Given the description of an element on the screen output the (x, y) to click on. 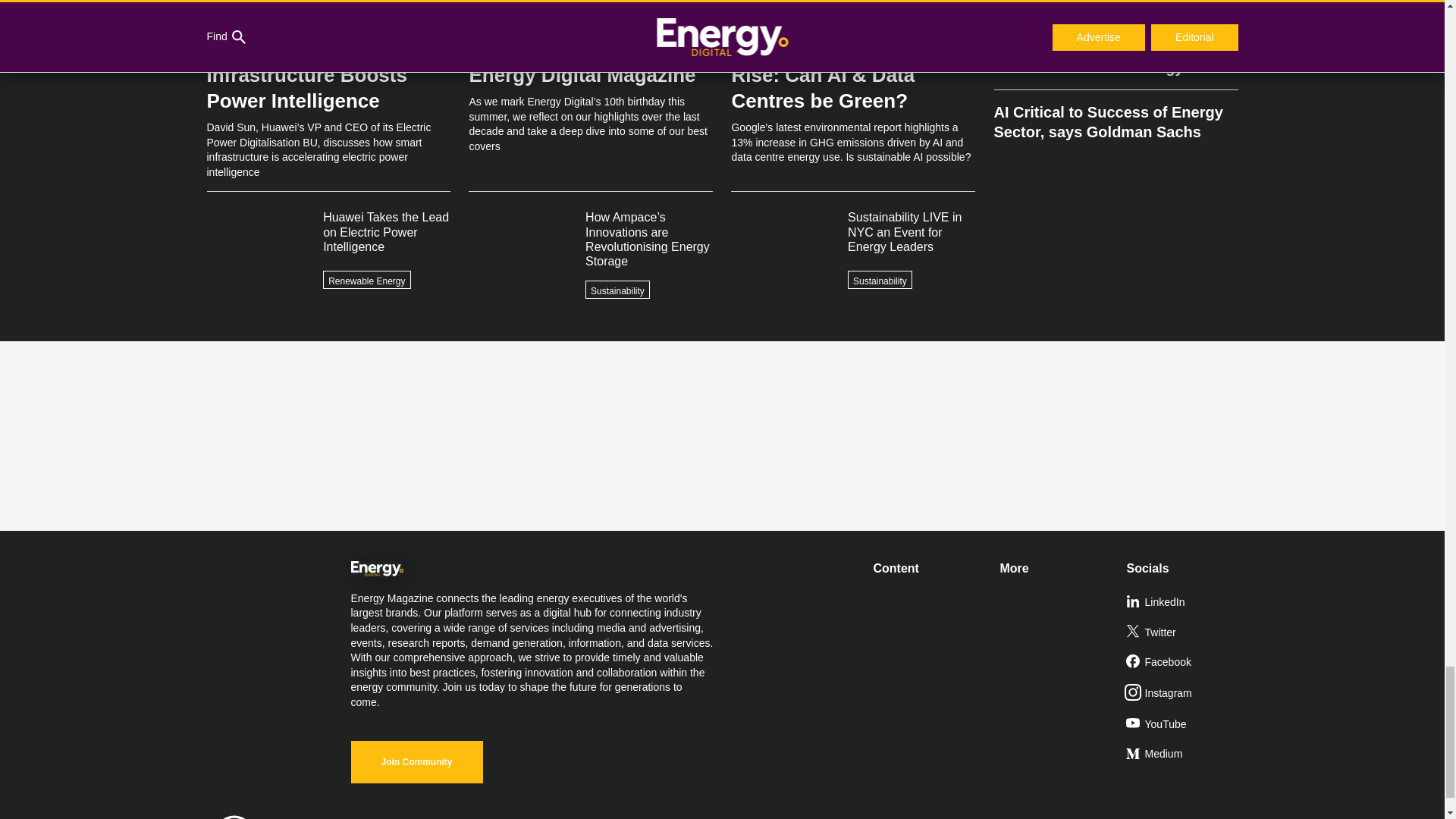
AI Critical to Success of Energy Sector, says Goldman Sachs (1114, 115)
Fossil Fuel Giants: Should They Pay for Climate Damages? (1114, 12)
